Given the description of an element on the screen output the (x, y) to click on. 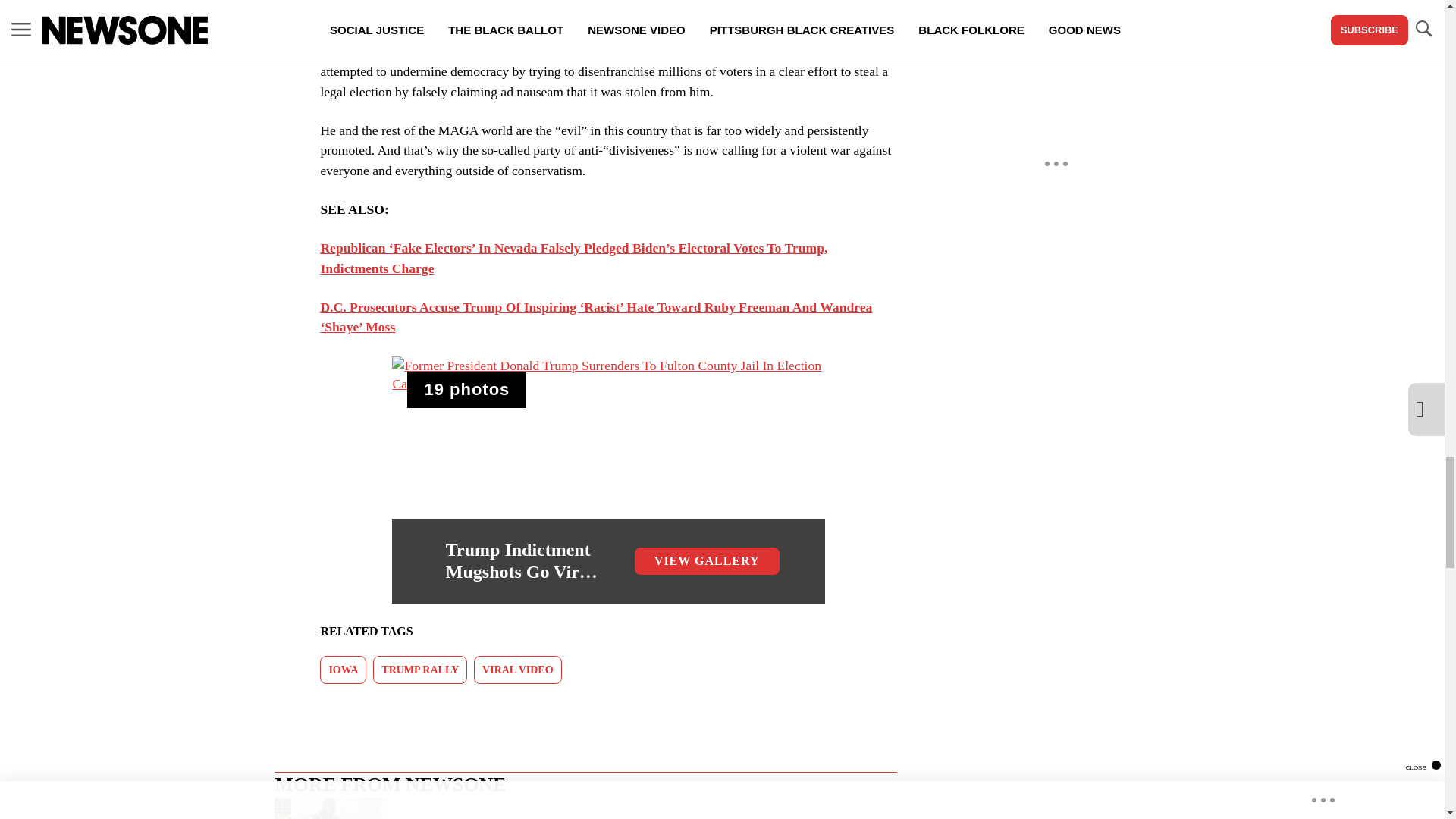
Media Playlist (466, 389)
Chef Jernard Wells and Feeding America Team Up To End Hunger (585, 808)
TRUMP RALLY (419, 669)
VIRAL VIDEO (518, 669)
IOWA (343, 669)
